Given the description of an element on the screen output the (x, y) to click on. 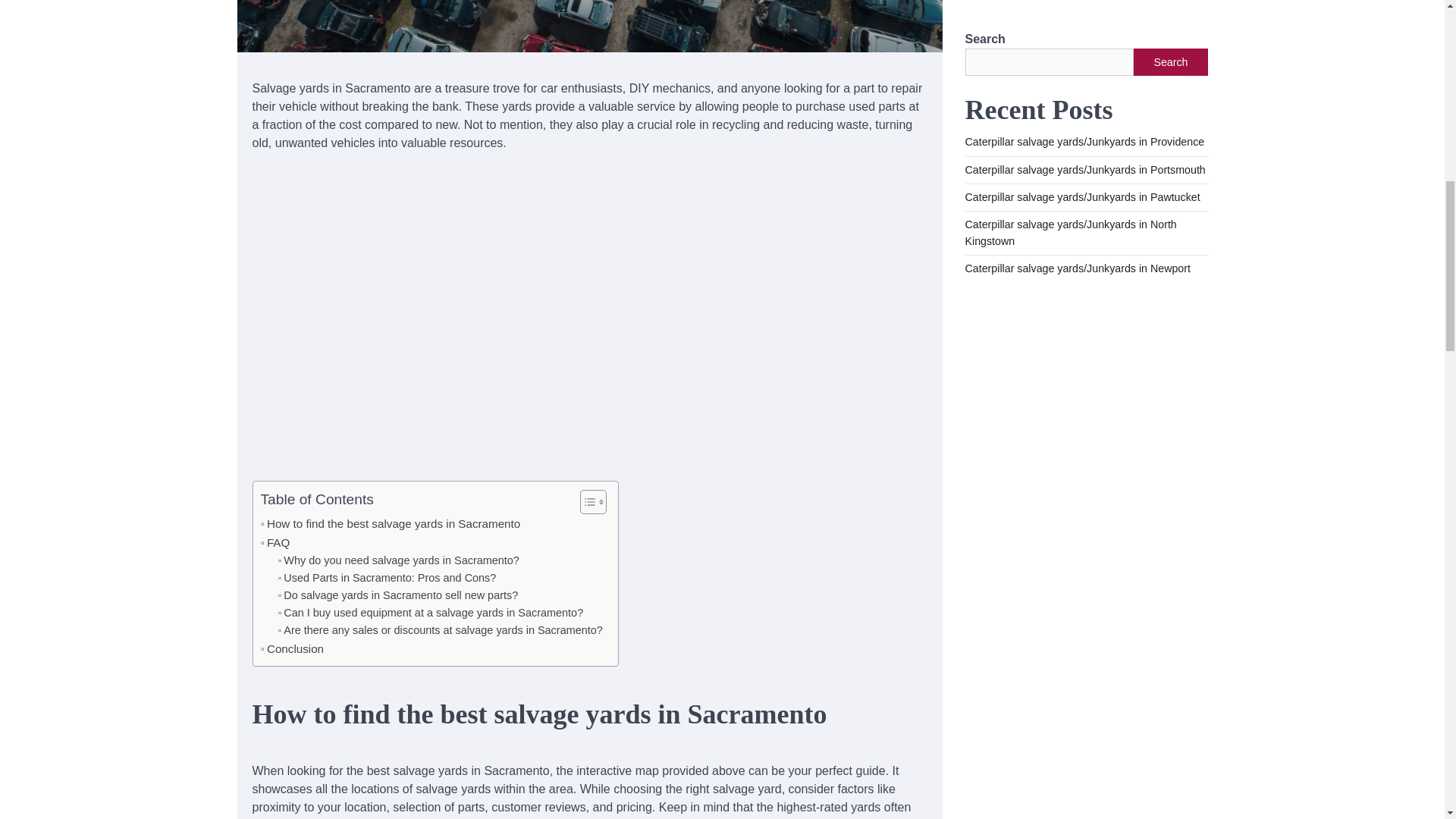
Used Parts in Sacramento: Pros and Cons? (387, 578)
Conclusion (292, 648)
Do salvage yards in Sacramento sell new parts? (430, 612)
Conclusion (398, 595)
How to find the best salvage yards in Sacramento (292, 648)
Can I buy used equipment at a salvage yards in Sacramento? (390, 524)
Why do you need salvage yards in Sacramento? (430, 612)
FAQ (398, 560)
